Given the description of an element on the screen output the (x, y) to click on. 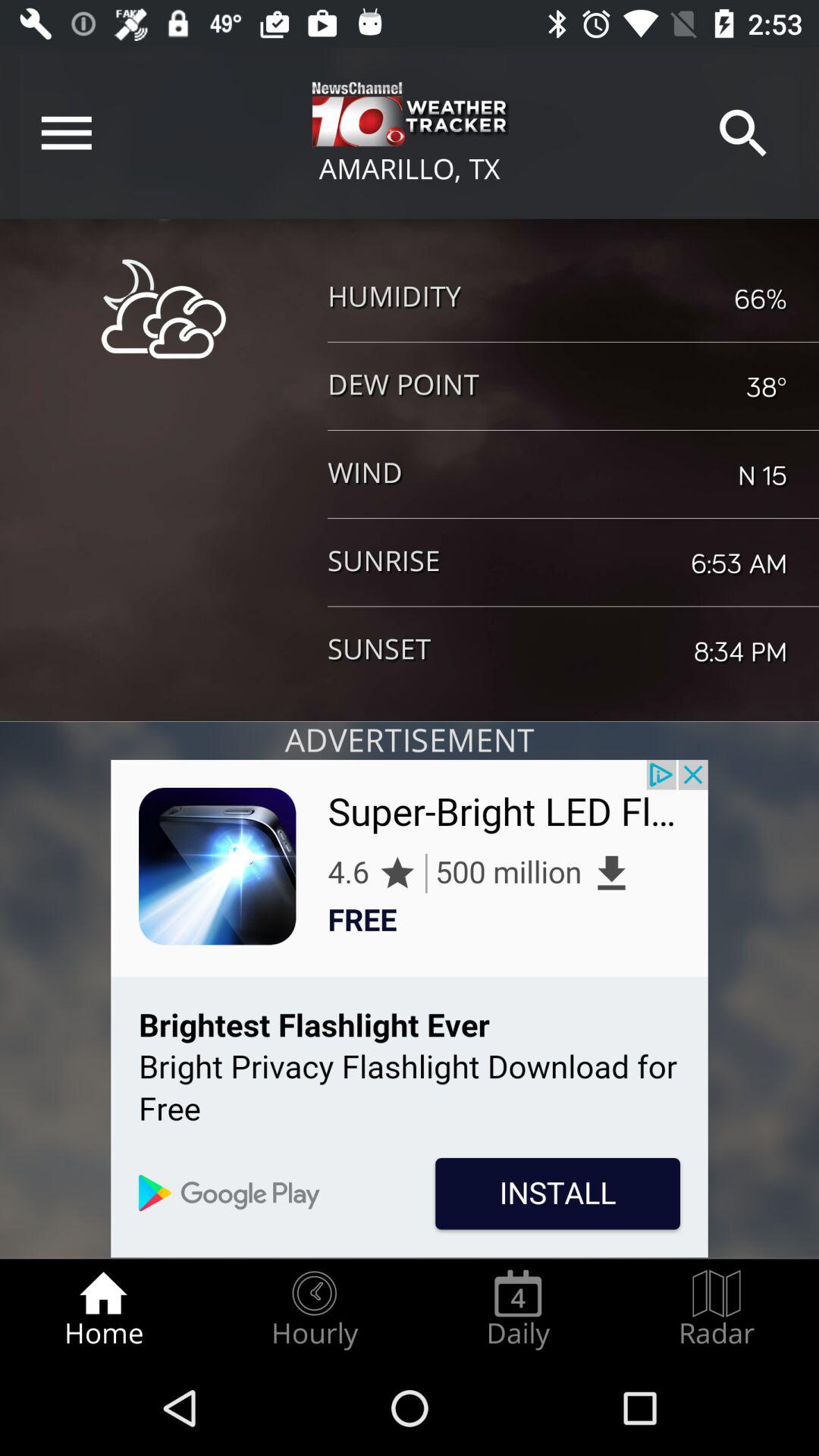
tap item to the right of home radio button (314, 1309)
